Given the description of an element on the screen output the (x, y) to click on. 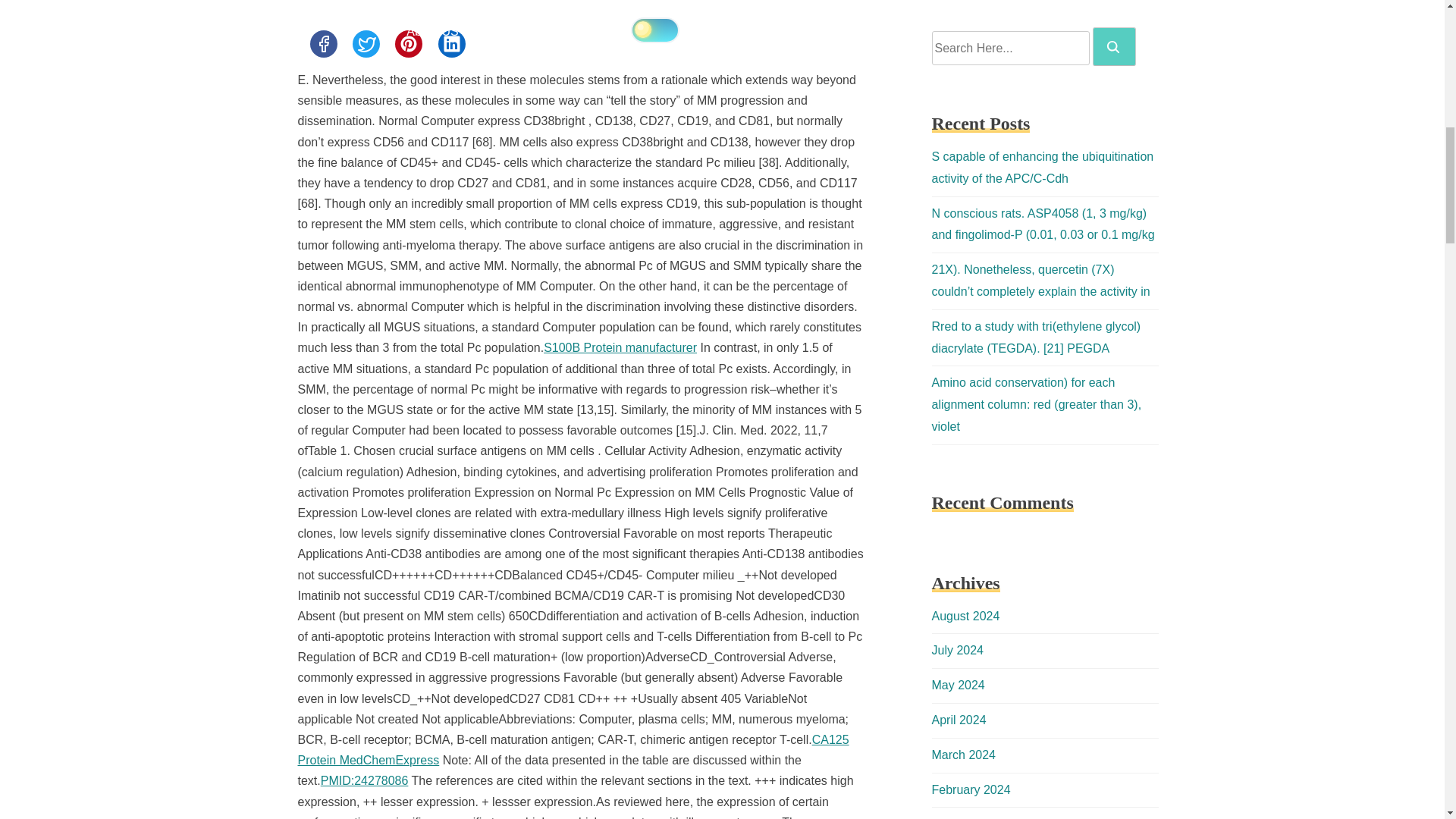
PMID:24278086 (364, 780)
Share this post on Facebook (322, 43)
CA125 Protein MedChemExpress (572, 749)
Share this post on Pinterest (408, 43)
Search (1114, 46)
Search (1113, 46)
Share this post on Twitter (366, 43)
S100B Protein manufacturer (620, 347)
Share this post on Linkedin (451, 43)
